Given the description of an element on the screen output the (x, y) to click on. 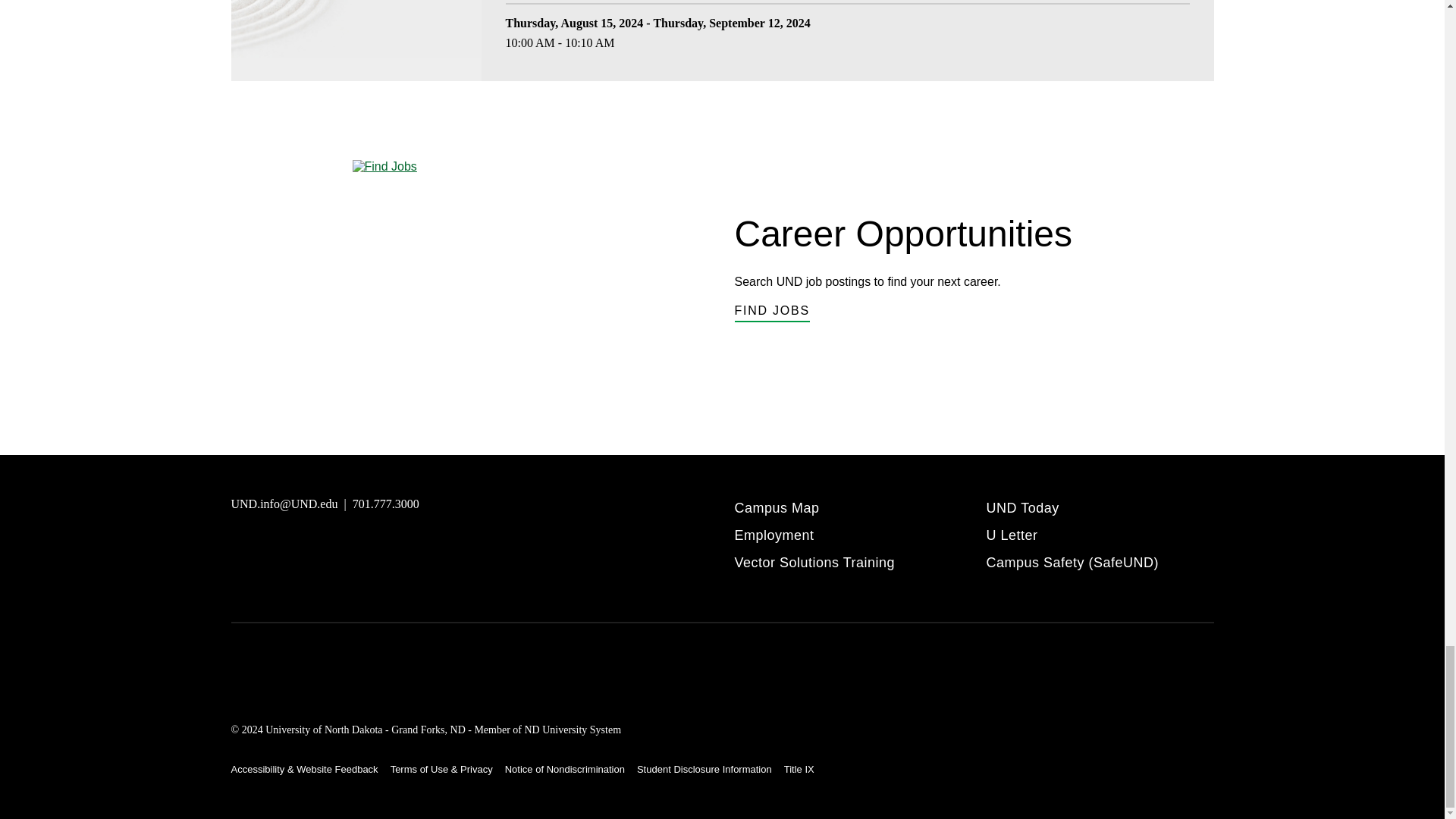
LinkedIn (387, 545)
Twitter (351, 545)
Instagram (277, 545)
Facebook (314, 545)
YouTube (240, 545)
